Given the description of an element on the screen output the (x, y) to click on. 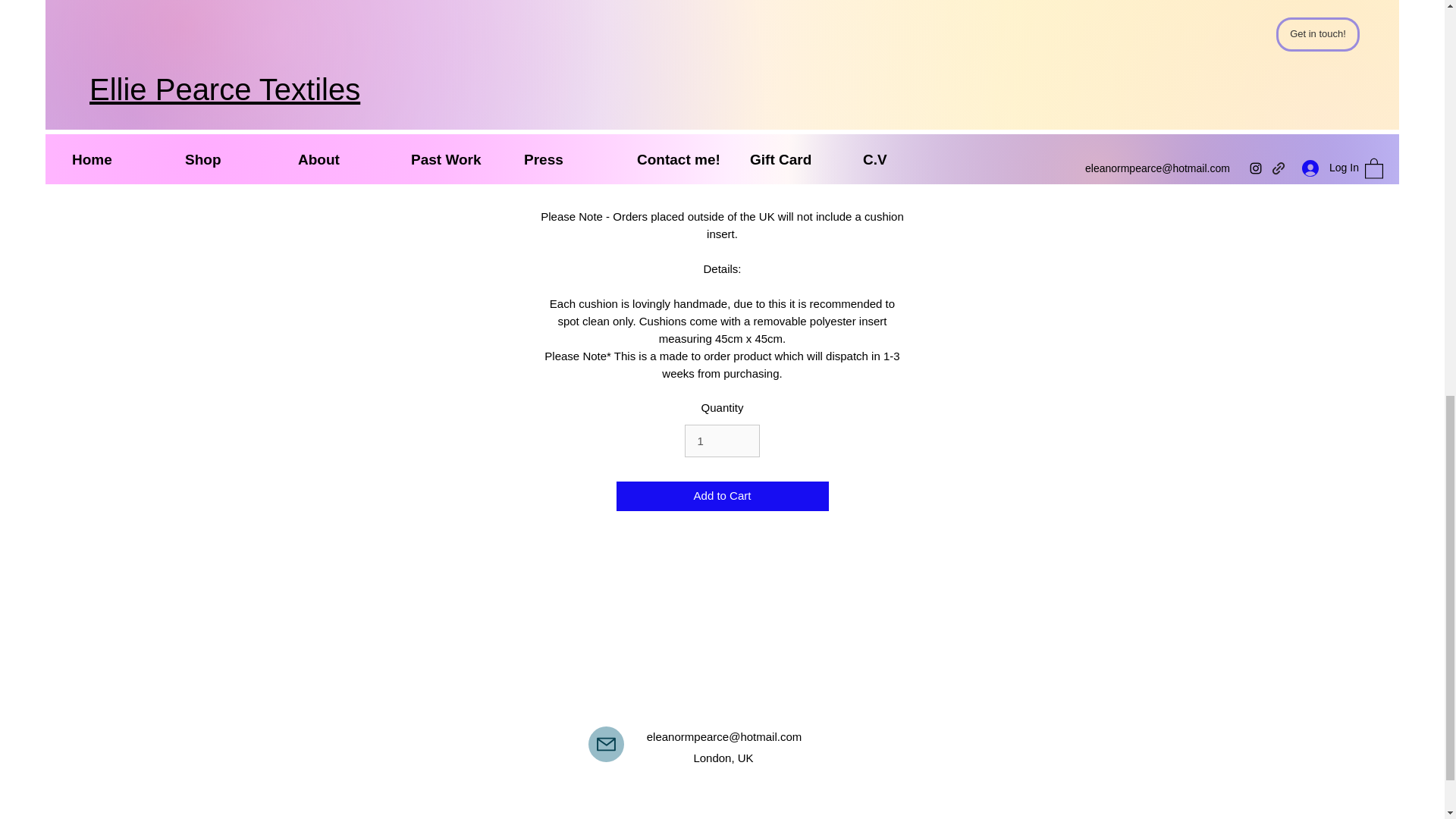
1 (721, 441)
Add to Cart (721, 496)
